Given the description of an element on the screen output the (x, y) to click on. 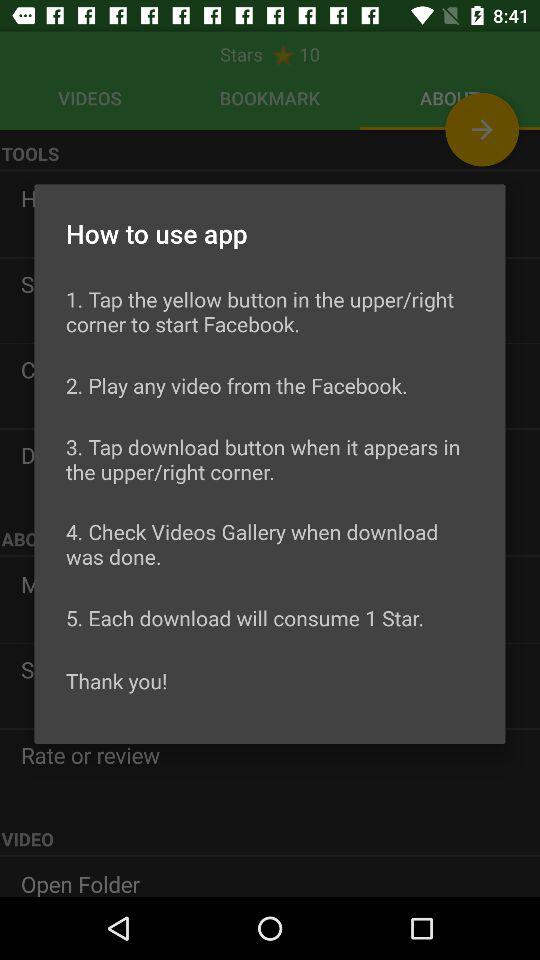
tap 5 each download (245, 617)
